Given the description of an element on the screen output the (x, y) to click on. 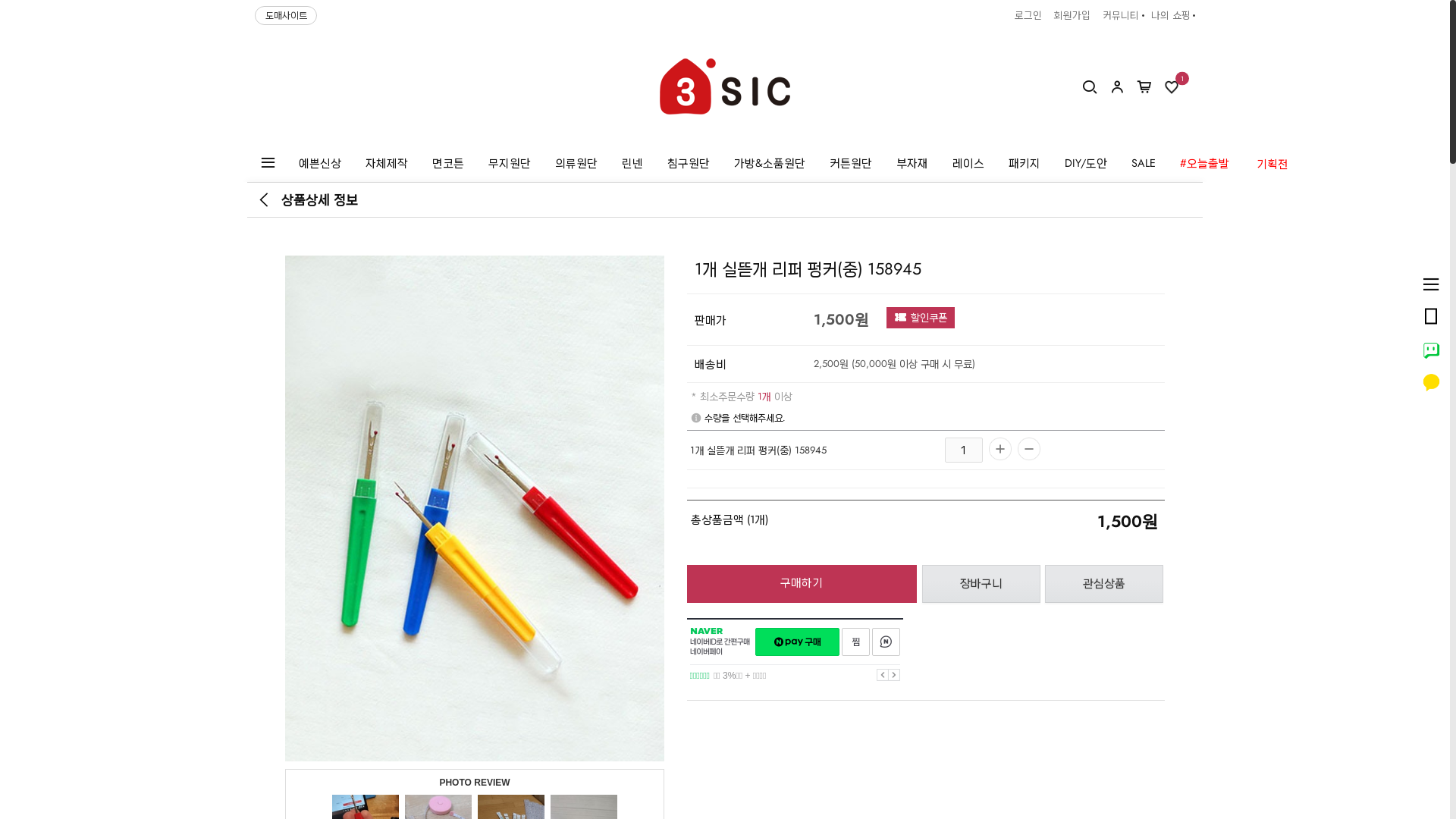
SALE Element type: text (1143, 163)
